Given the description of an element on the screen output the (x, y) to click on. 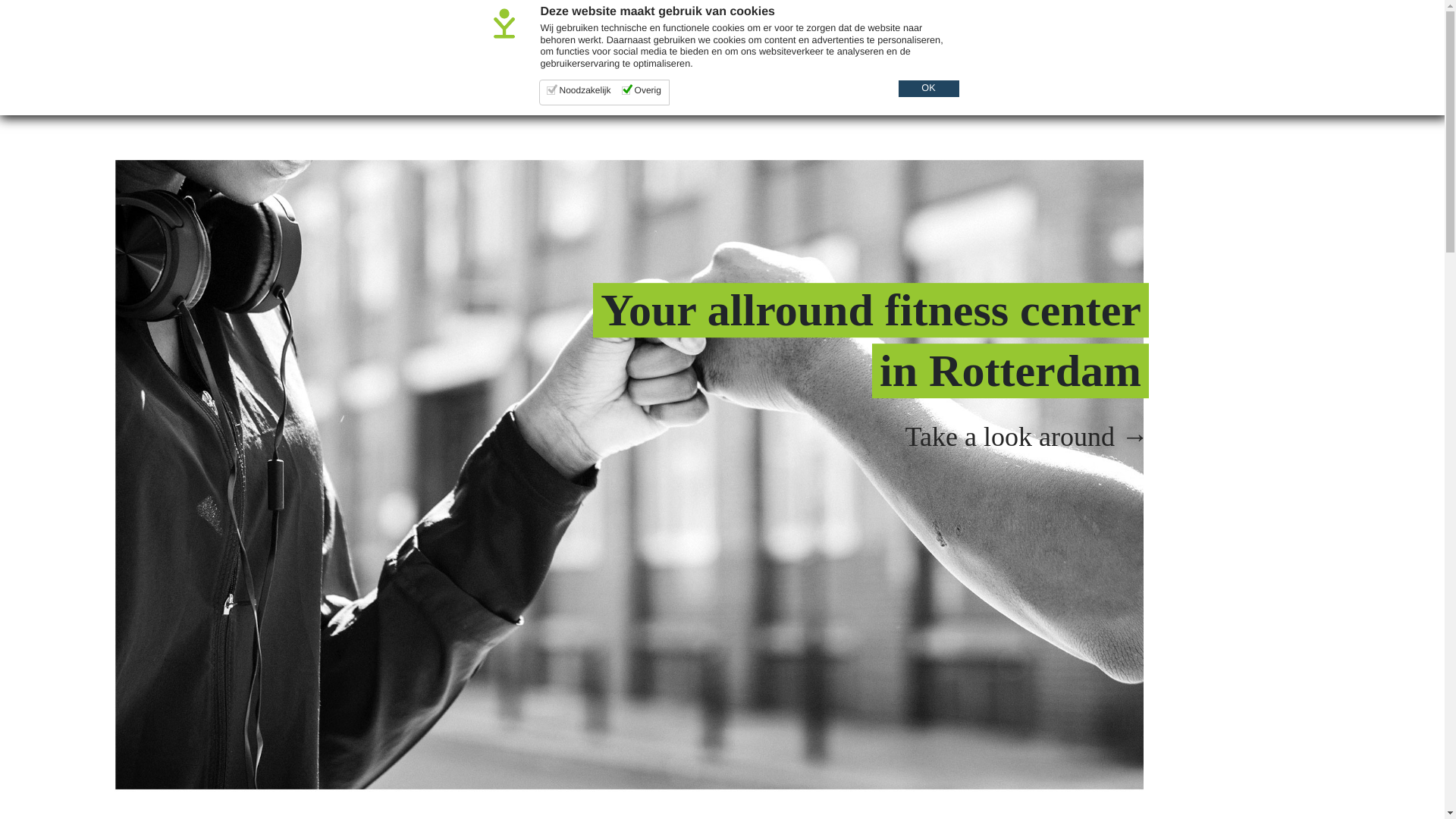
breathing (645, 77)
OK (928, 88)
nederlands (1406, 14)
physical therapy (536, 77)
